Given the description of an element on the screen output the (x, y) to click on. 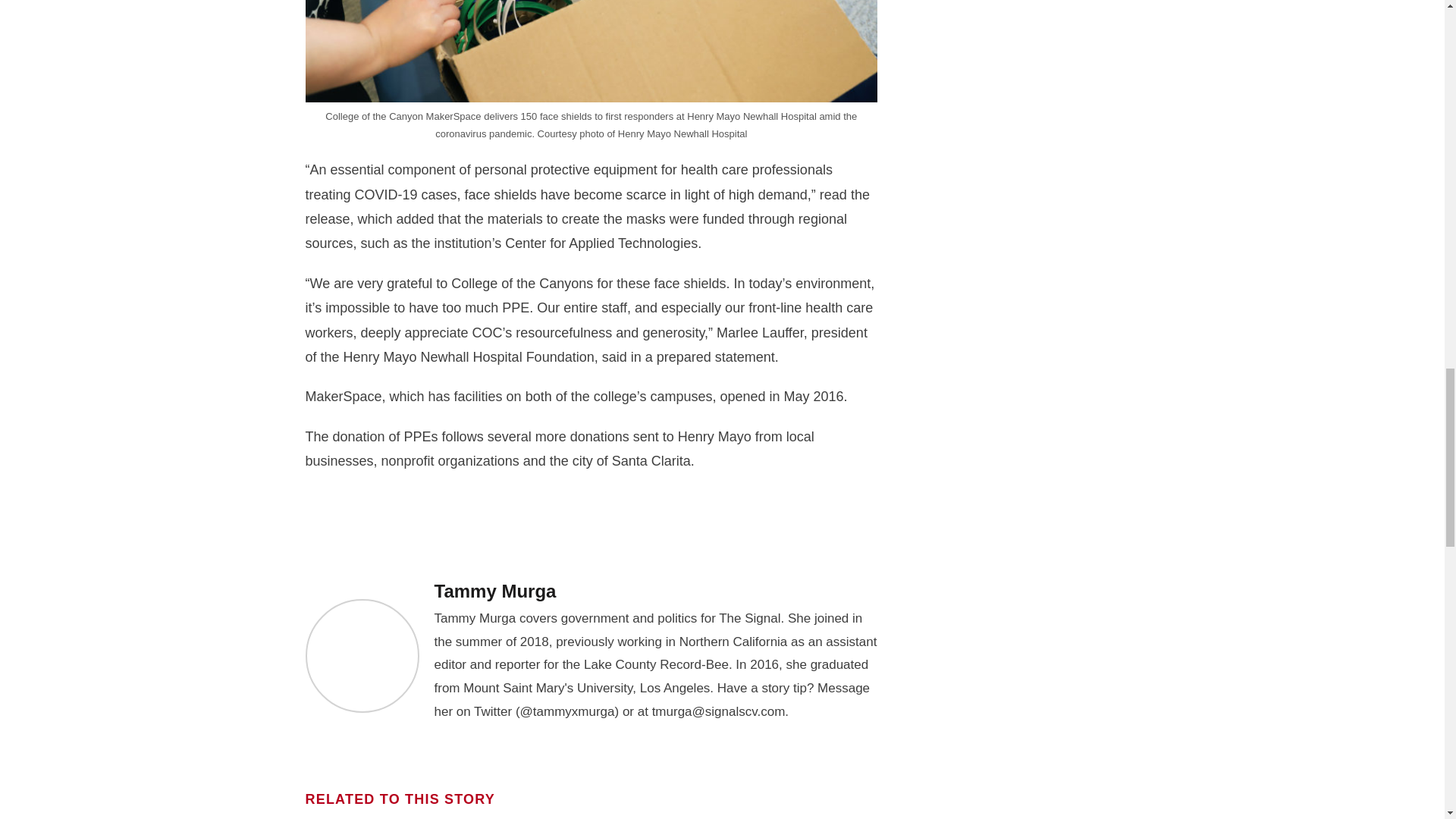
3rd party ad content (591, 522)
3rd party ad content (1031, 203)
3rd party ad content (1031, 408)
3rd party ad content (1031, 47)
3rd party ad content (1031, 613)
